Given the description of an element on the screen output the (x, y) to click on. 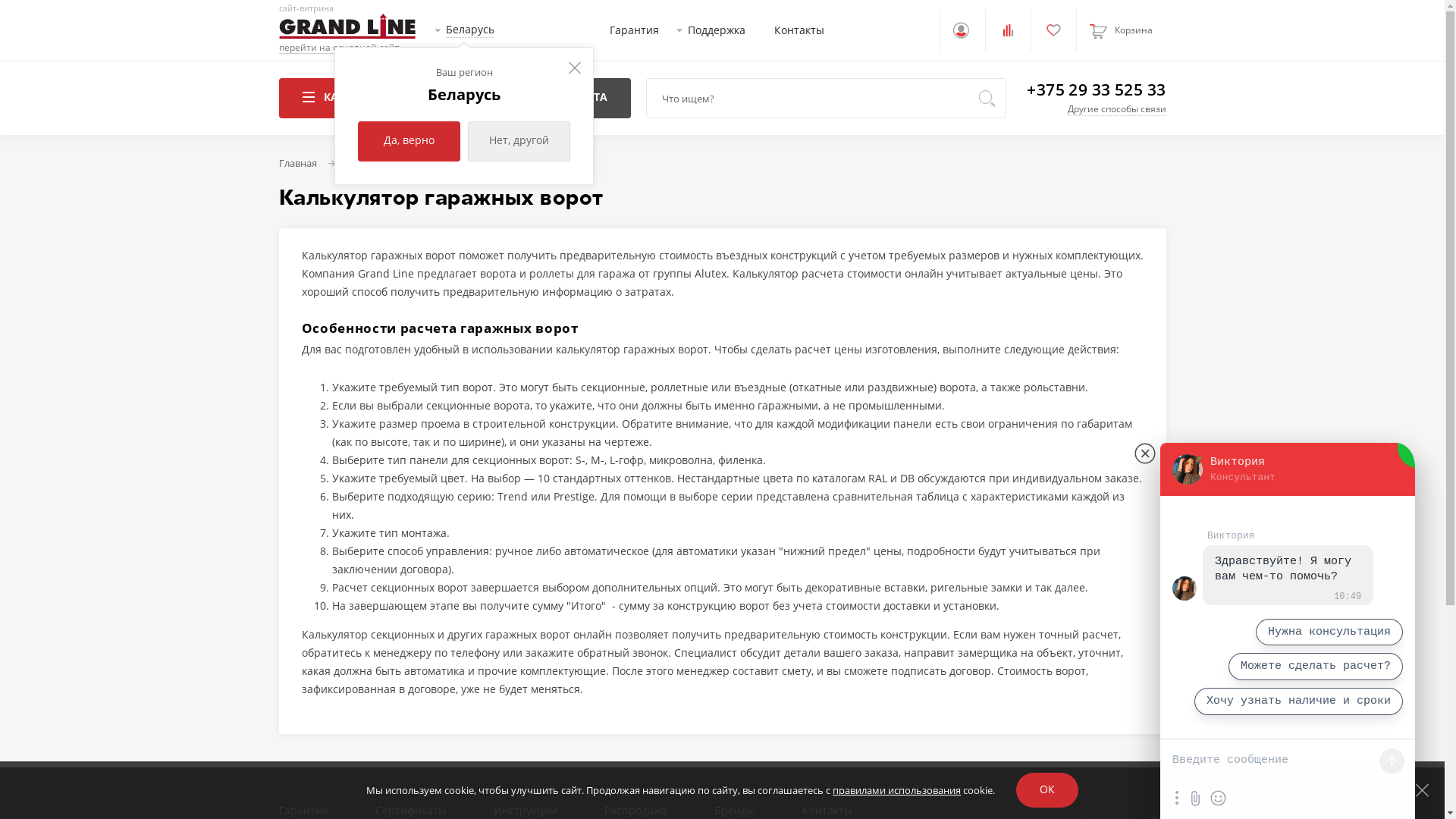
+375 29 33 525 33 Element type: text (1095, 89)
